Given the description of an element on the screen output the (x, y) to click on. 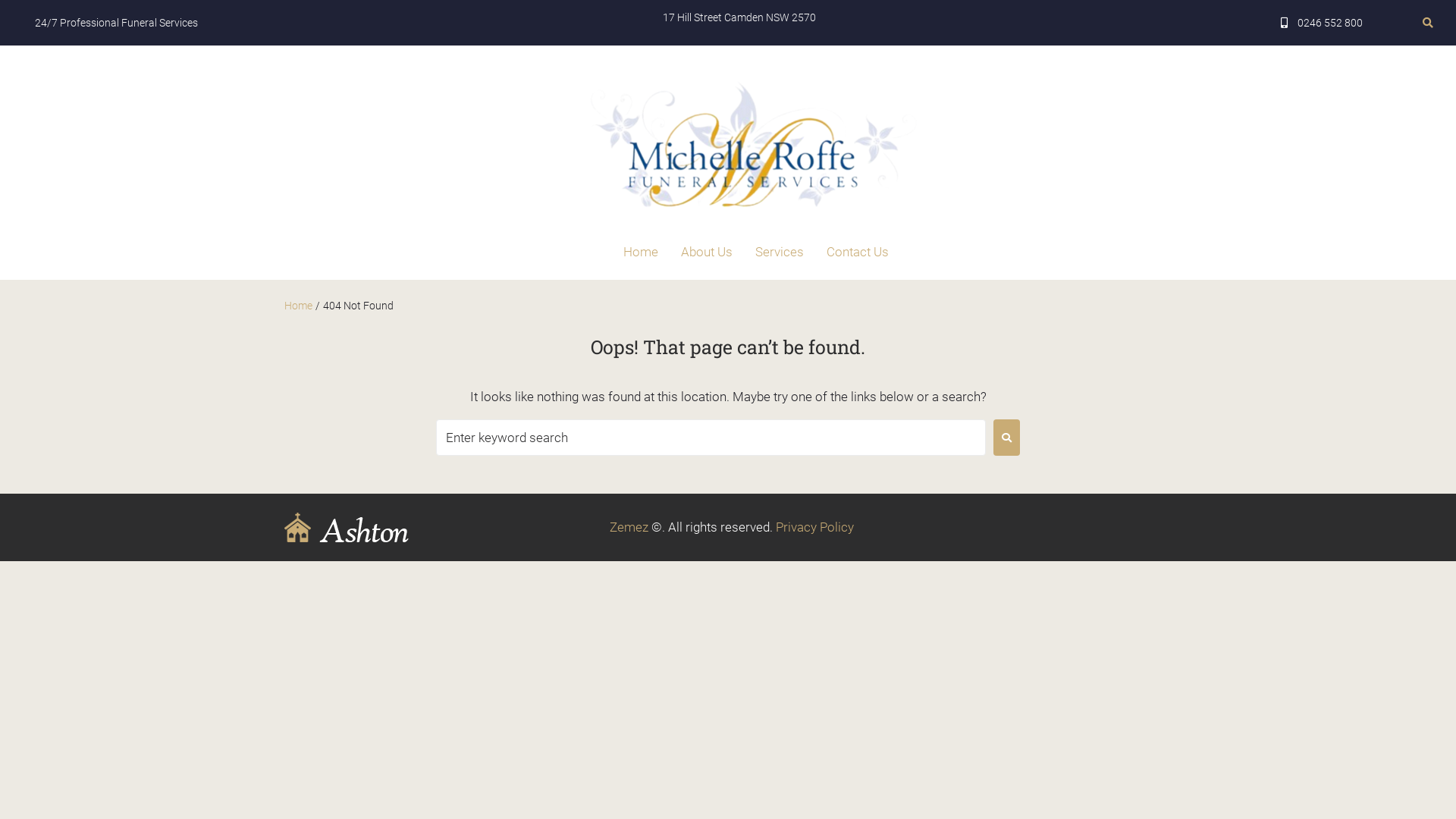
Services Element type: text (779, 251)
Zemez Element type: text (628, 526)
Contact Us Element type: text (857, 251)
Home Element type: text (640, 251)
About Us Element type: text (706, 251)
0246 552 800 Element type: text (1321, 22)
Privacy Policy Element type: text (814, 526)
Home Element type: text (298, 305)
